Given the description of an element on the screen output the (x, y) to click on. 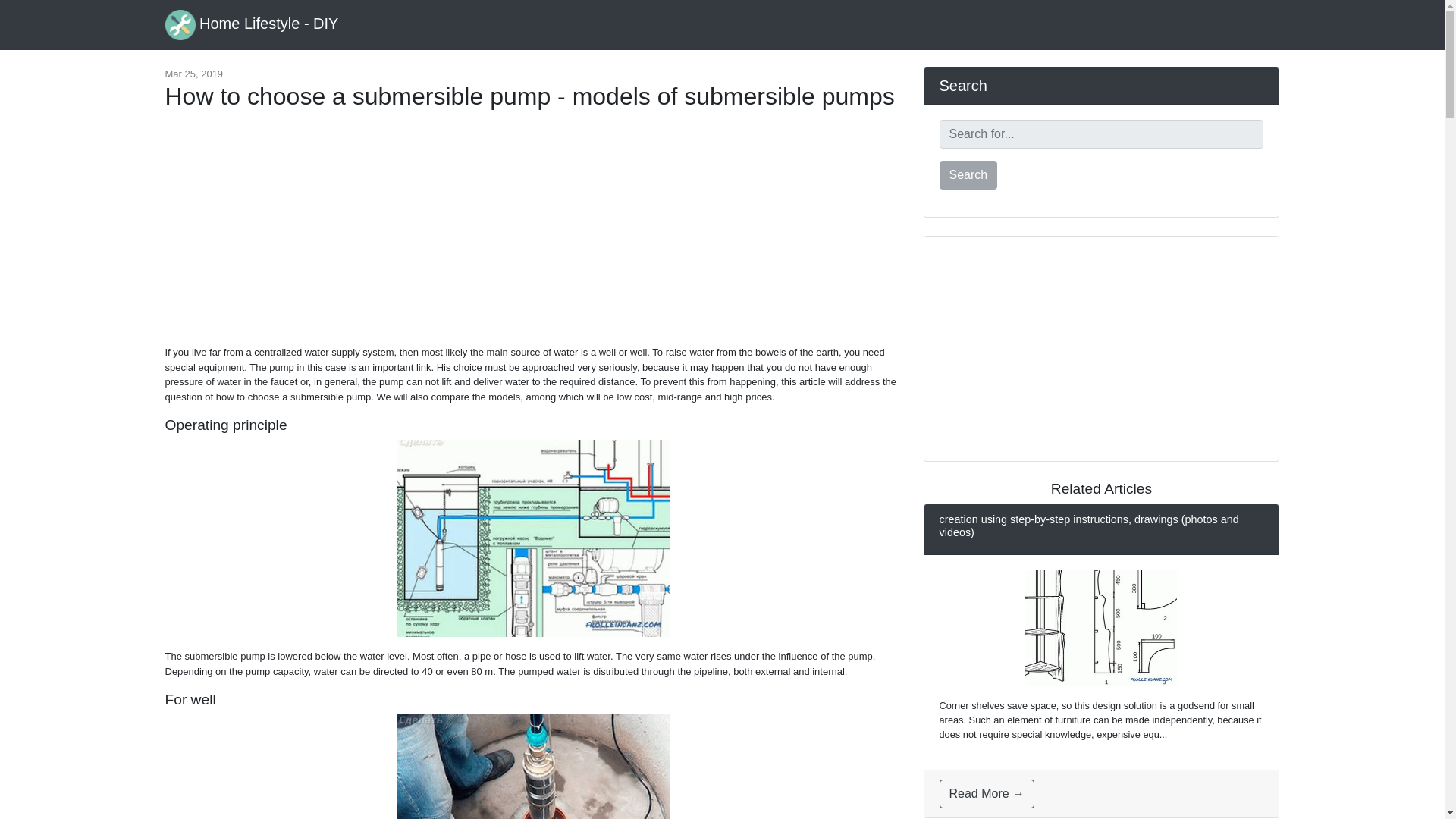
Search (968, 174)
Advertisement (531, 234)
Home Lifestyle - DIY (252, 24)
